Given the description of an element on the screen output the (x, y) to click on. 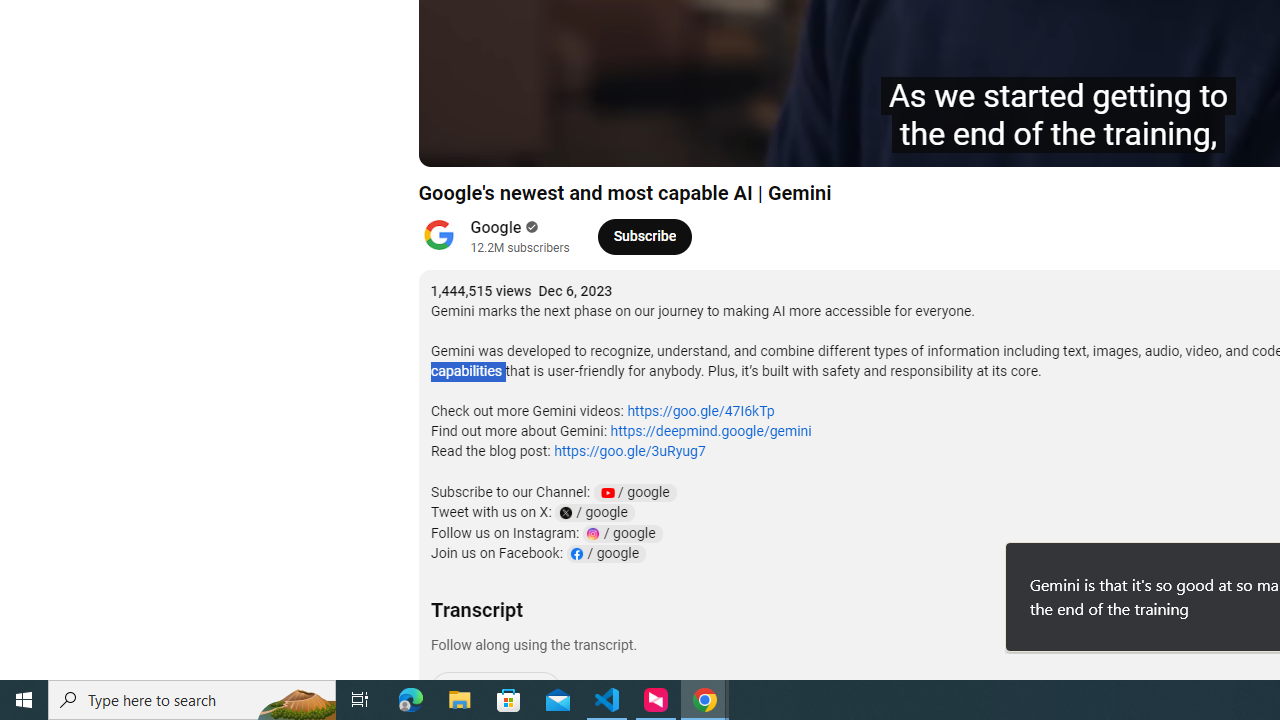
Next (SHIFT+n) (500, 142)
https://goo.gle/3uRyug7 (629, 451)
YouTube Channel Link: google (634, 492)
Verified (530, 227)
Play (k) (453, 142)
Twitter Channel Link: google (594, 512)
https://goo.gle/47I6kTp (699, 411)
Mute keyboard shortcut m (548, 142)
Subscribe to Google. (644, 236)
https://deepmind.google/gemini (710, 431)
Show transcript (495, 689)
Instagram Channel Link: google (622, 533)
Google (496, 227)
